Given the description of an element on the screen output the (x, y) to click on. 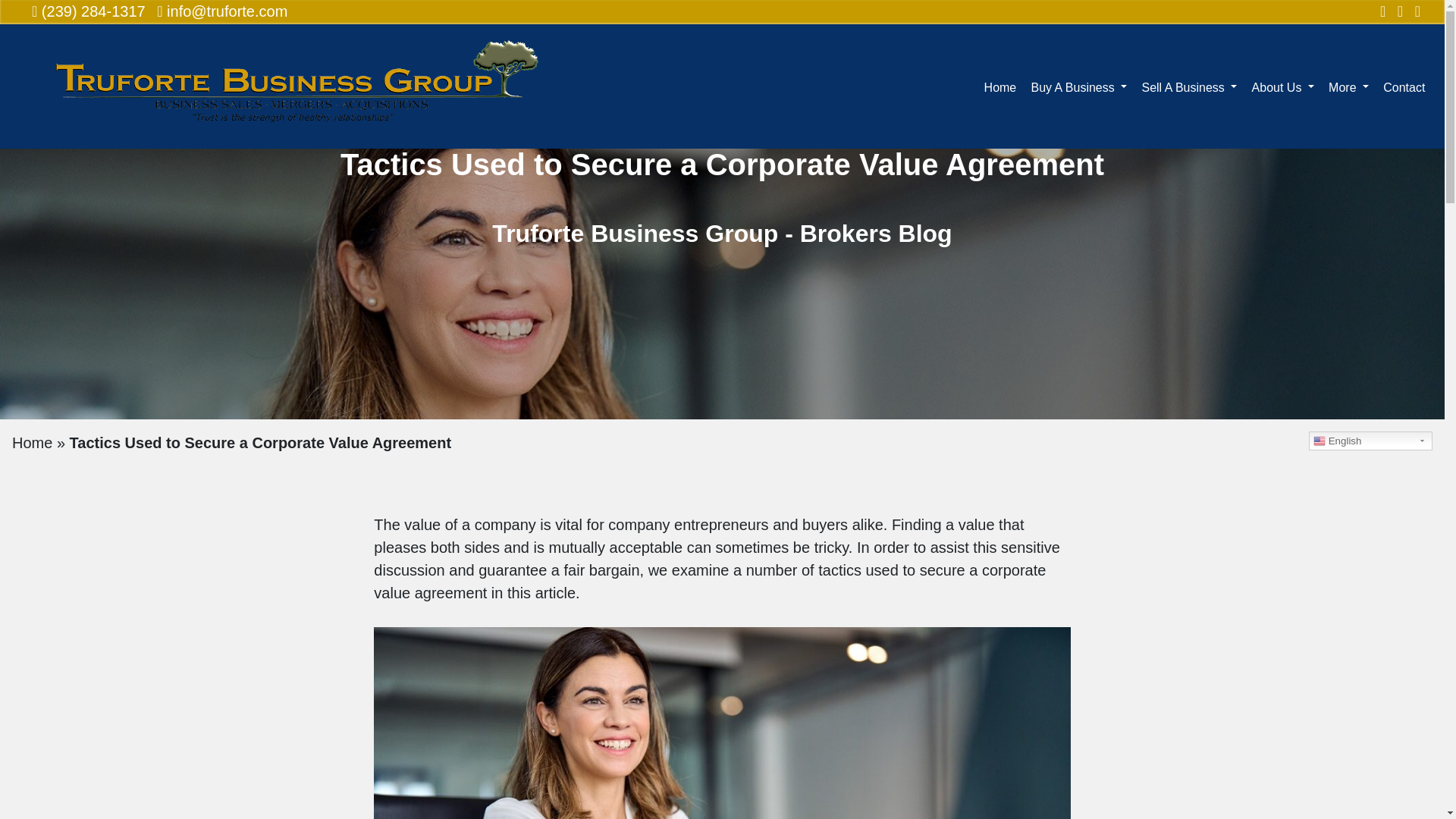
Home (999, 86)
More (1347, 86)
Home (31, 442)
Sell A Business (1189, 86)
Contact (1403, 86)
English (1370, 440)
About Us (1283, 86)
Buy A Business (1078, 86)
